Given the description of an element on the screen output the (x, y) to click on. 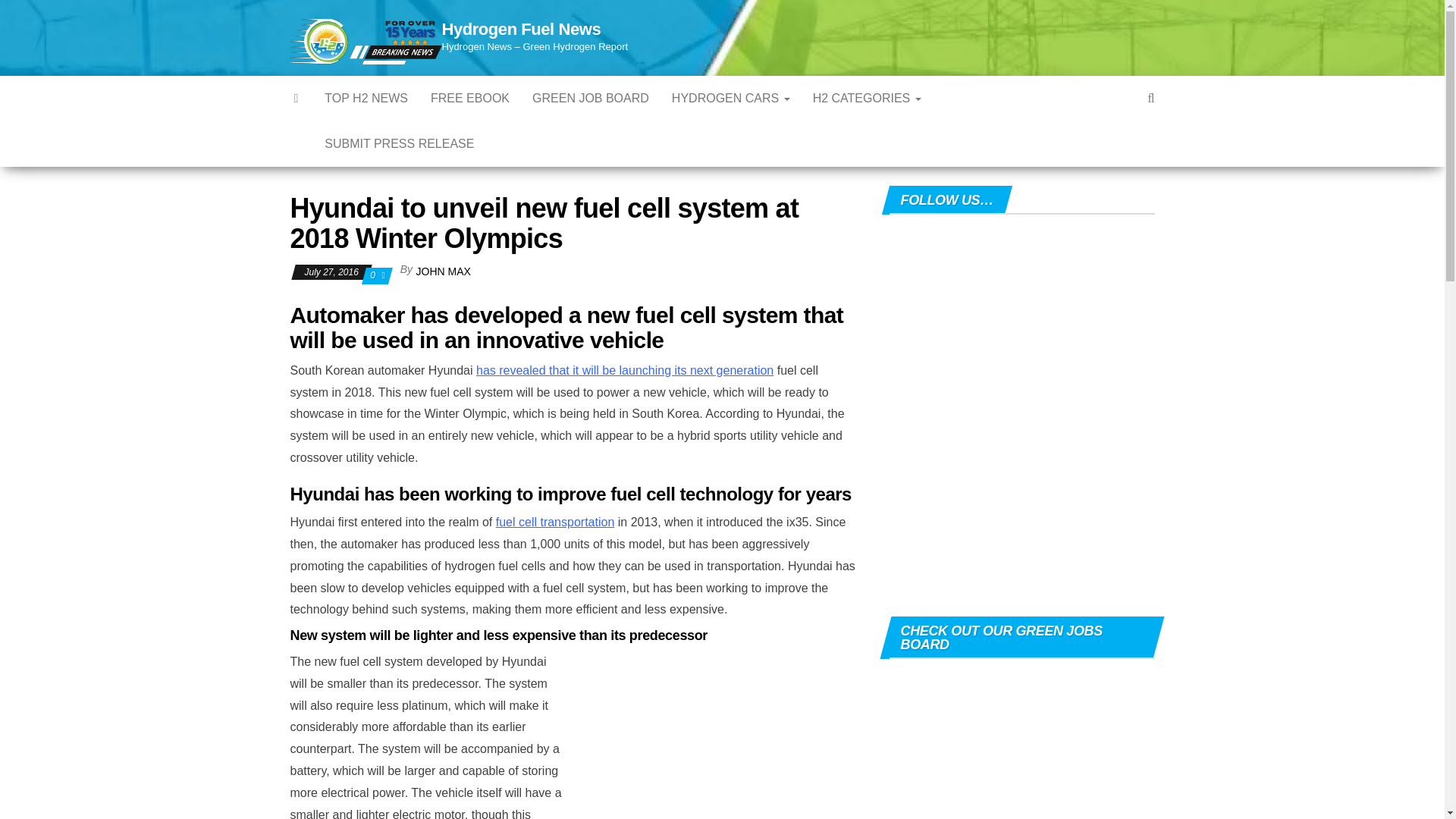
Hydrogen Cars (731, 98)
GREEN JOB BOARD (591, 98)
FREE EBOOK (470, 98)
Hydrogen Fuel News (520, 28)
H2 CATEGORIES (867, 98)
Green Job Board (591, 98)
Top H2 News (366, 98)
TOP H2 NEWS (366, 98)
Free ebook (470, 98)
HYDROGEN CARS (731, 98)
